Given the description of an element on the screen output the (x, y) to click on. 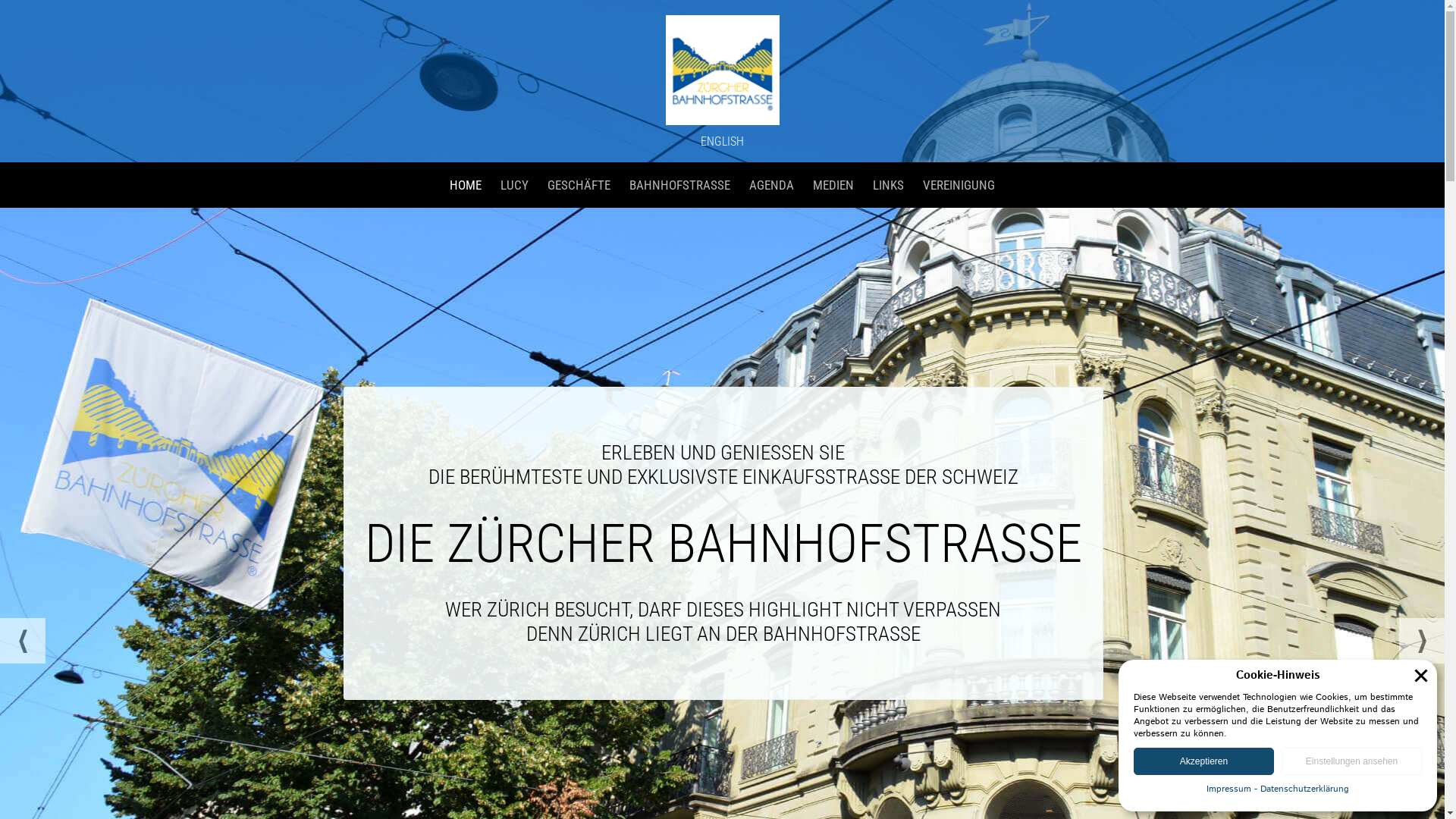
AGENDA Element type: text (771, 184)
VEREINIGUNG Element type: text (958, 184)
MEDIEN Element type: text (833, 184)
BAHNHOFSTRASSE Element type: text (679, 184)
LINKS Element type: text (888, 184)
HOME Element type: text (465, 184)
LUCY Element type: text (514, 184)
Akzeptieren Element type: text (1203, 761)
ENGLISH Element type: text (721, 141)
Einstellungen ansehen Element type: text (1351, 761)
